Given the description of an element on the screen output the (x, y) to click on. 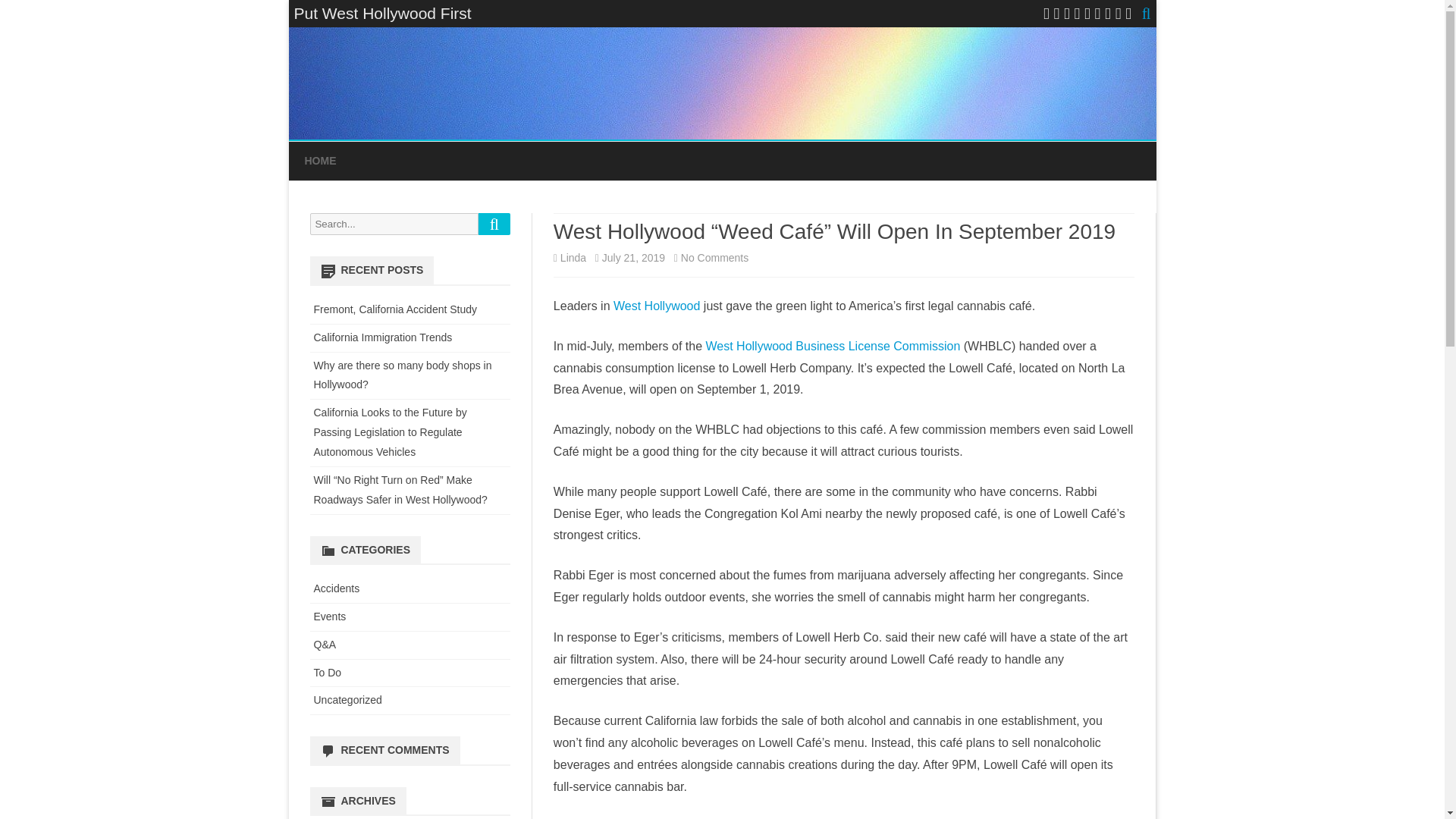
Fremont, California Accident Study (395, 309)
WhatsApp (1118, 13)
Search (495, 223)
Google Plus (1067, 13)
Instagram (1097, 13)
Linda (573, 257)
Twitter (1046, 13)
Why are there so many body shops in Hollywood? (403, 375)
Facebook (1056, 13)
LindedIn (1077, 13)
California Immigration Trends (383, 337)
West Hollywood Business License Commission (831, 345)
West Hollywood (656, 305)
